Given the description of an element on the screen output the (x, y) to click on. 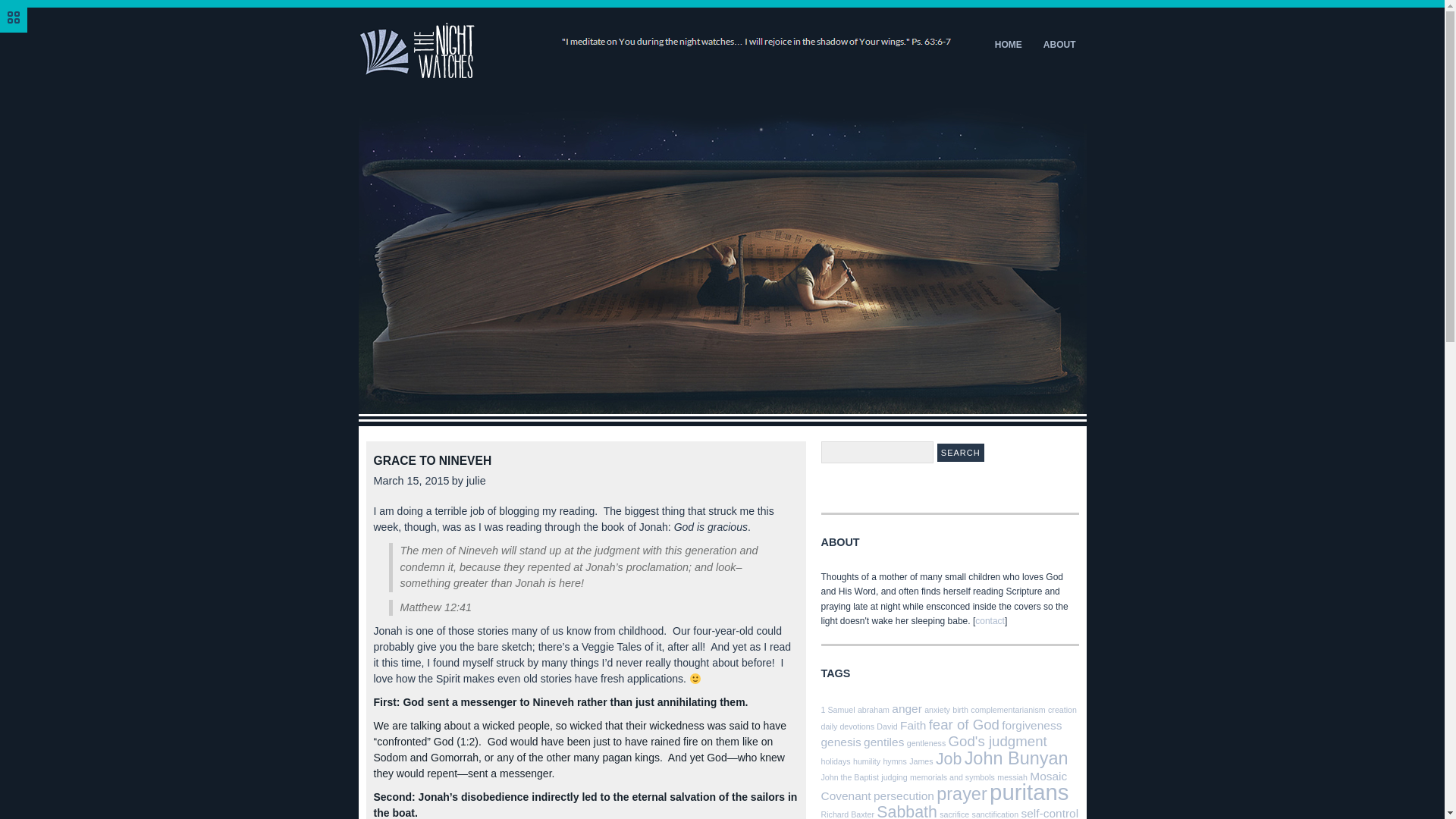
forgiveness (1031, 725)
creation (1062, 709)
daily devotions (848, 726)
anger (906, 707)
The Night Watches (655, 75)
abraham (873, 709)
HOME (1008, 44)
James (920, 760)
John the Baptist (849, 777)
persecution (903, 795)
